Given the description of an element on the screen output the (x, y) to click on. 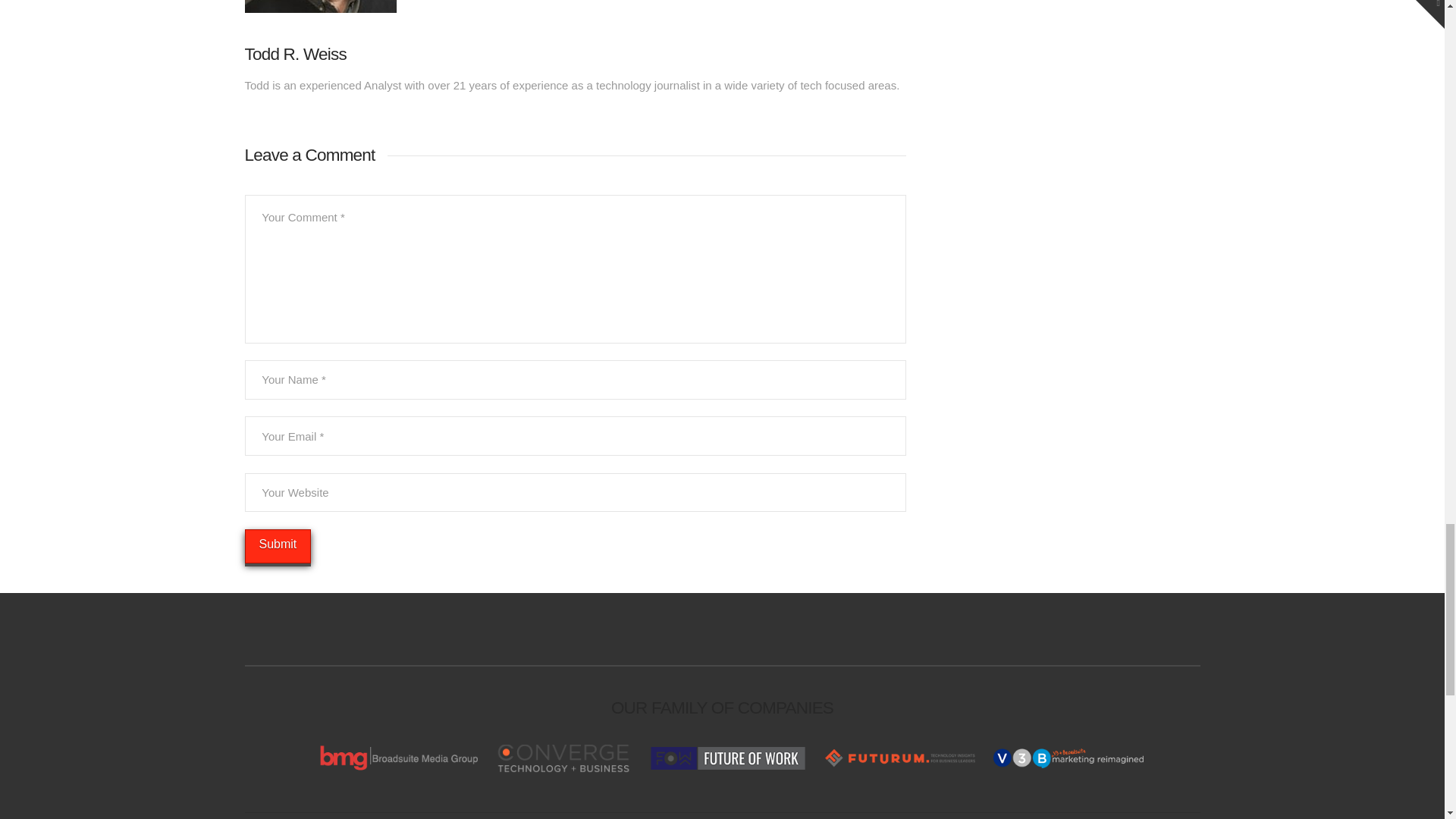
Submit (277, 546)
